Given the description of an element on the screen output the (x, y) to click on. 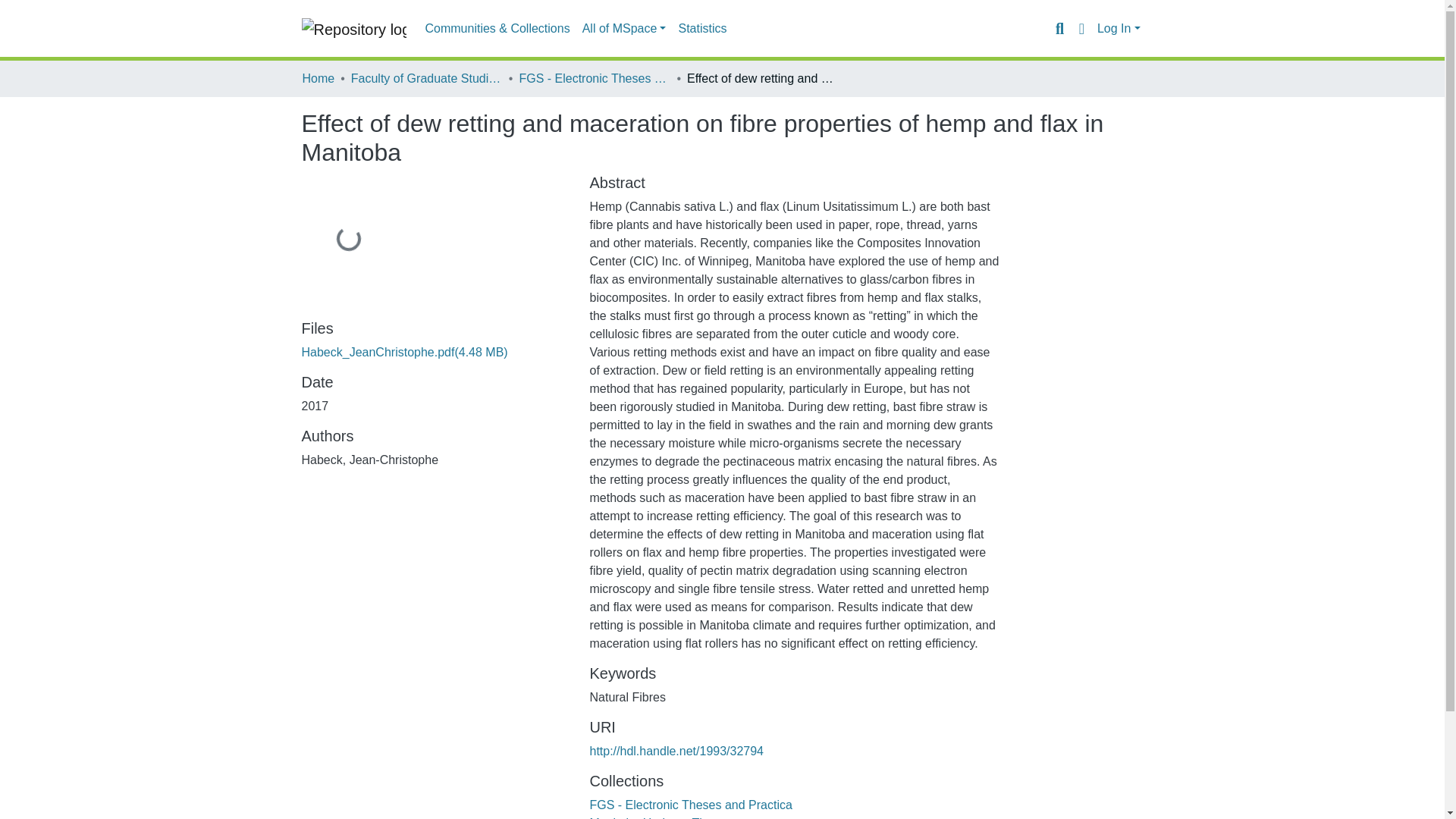
Statistics (701, 28)
FGS - Electronic Theses and Practica (690, 804)
Home (317, 78)
Log In (1118, 28)
FGS - Electronic Theses and Practica (593, 78)
Statistics (701, 28)
Language switch (1081, 28)
Search (1058, 28)
Manitoba Heritage Theses (659, 817)
All of MSpace (624, 28)
